Given the description of an element on the screen output the (x, y) to click on. 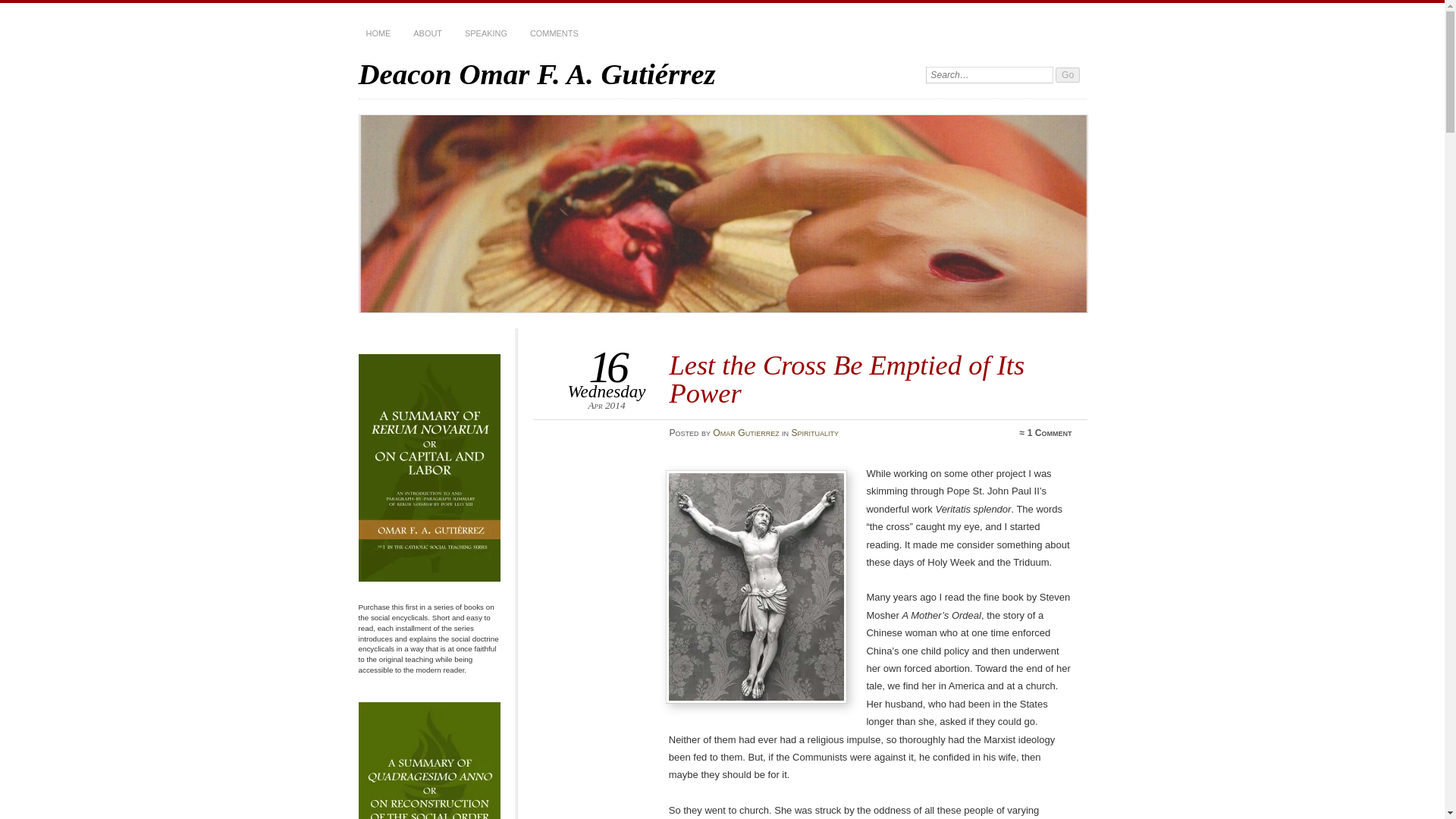
COMMENTS (554, 33)
Omar Gutierrez (745, 432)
1 Comment (1049, 432)
HOME (377, 33)
Go (1067, 74)
Spirituality (814, 432)
ABOUT (427, 33)
SPEAKING (486, 33)
View all posts by Omar Gutierrez (745, 432)
Go (1067, 74)
